Given the description of an element on the screen output the (x, y) to click on. 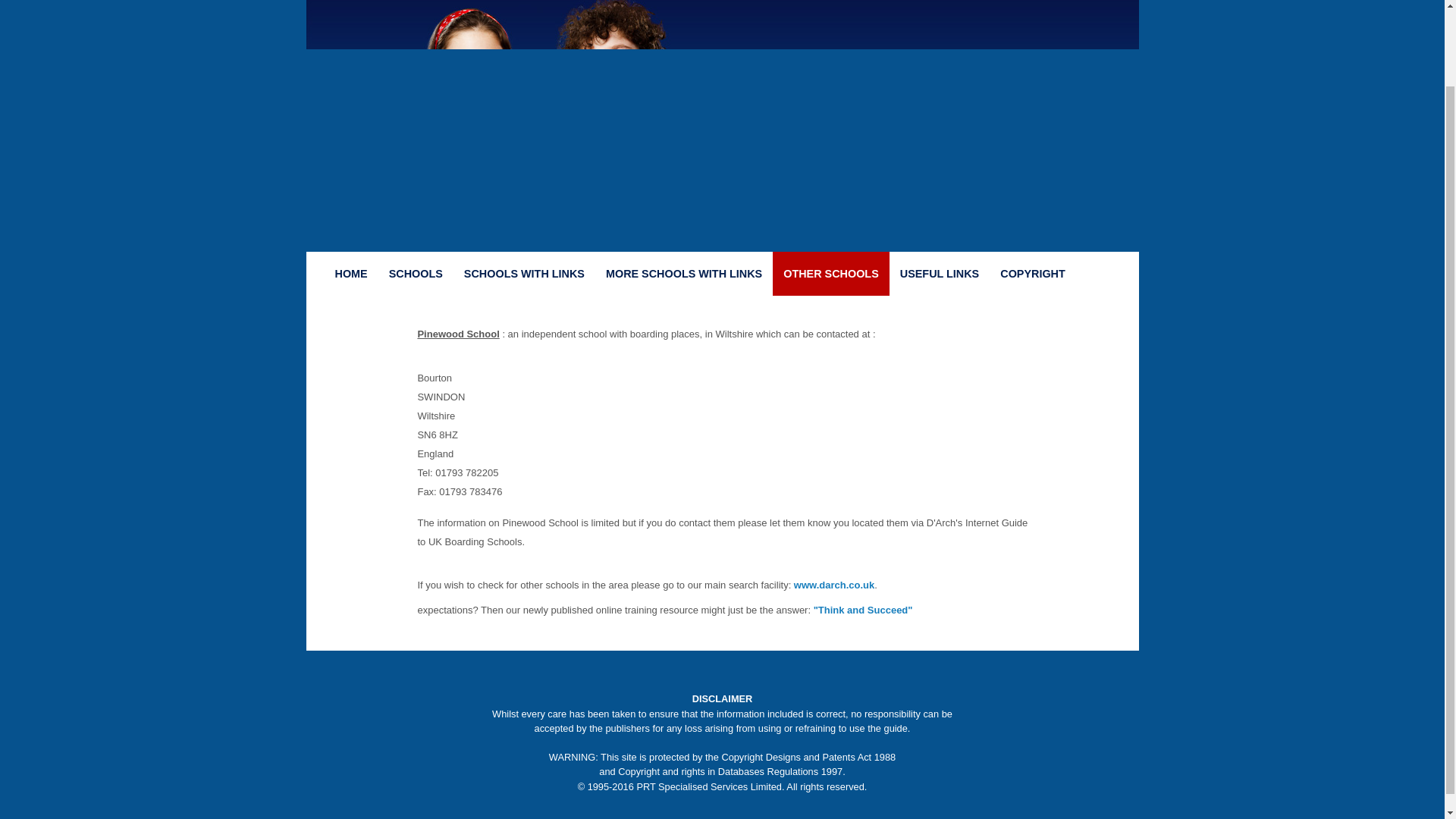
OTHER SCHOOLS (831, 273)
MORE SCHOOLS WITH LINKS (684, 273)
SCHOOLS WITH LINKS (523, 273)
SCHOOLS (415, 273)
HOME (351, 273)
